Given the description of an element on the screen output the (x, y) to click on. 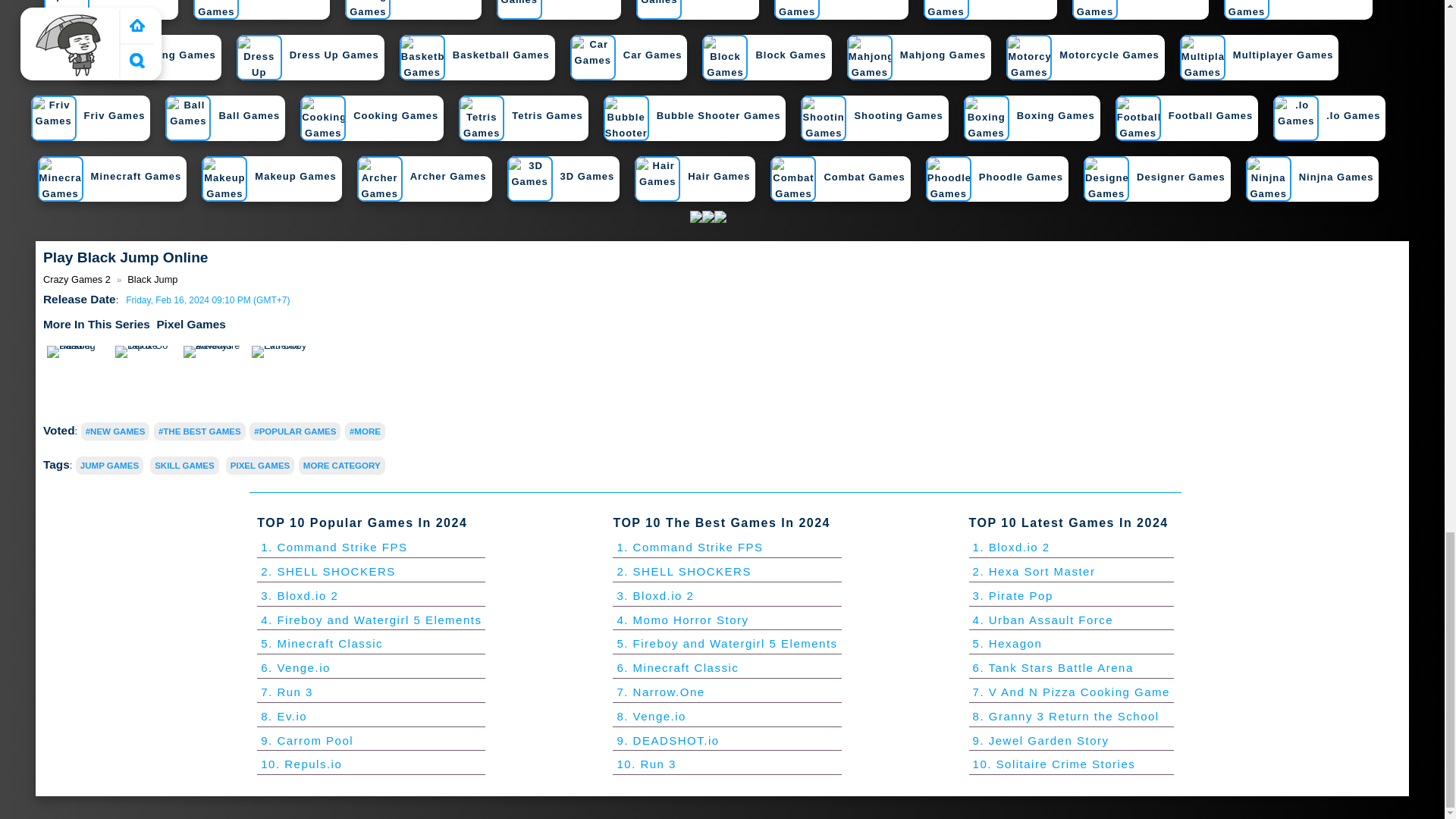
Arcade Games (258, 9)
Black Jump (152, 279)
Jump Games (108, 465)
Girls Games (555, 9)
Skill Games (183, 465)
Pixel games (190, 323)
Puzzle Games (987, 9)
Racing Games (410, 9)
Sports Games (108, 9)
Skill Games (695, 9)
